Given the description of an element on the screen output the (x, y) to click on. 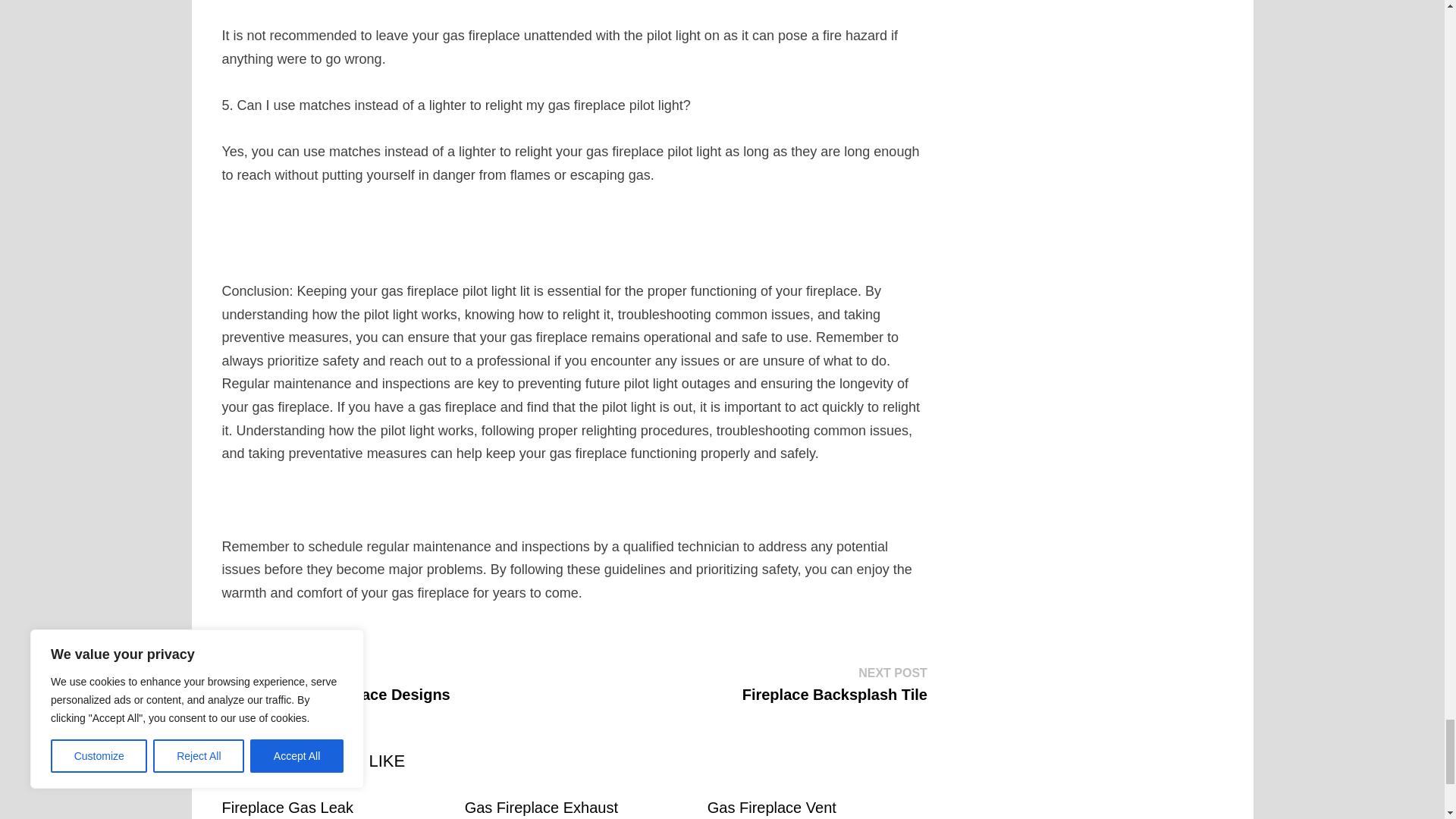
Gas Fireplace Vent Requirements (771, 809)
Gas Fireplace Exhaust (540, 807)
Gas Fireplace Exhaust (335, 683)
Fireplace Gas Leak (540, 807)
Gas Fireplace Vent Requirements (834, 683)
Fireplace Gas Leak (286, 807)
